Given the description of an element on the screen output the (x, y) to click on. 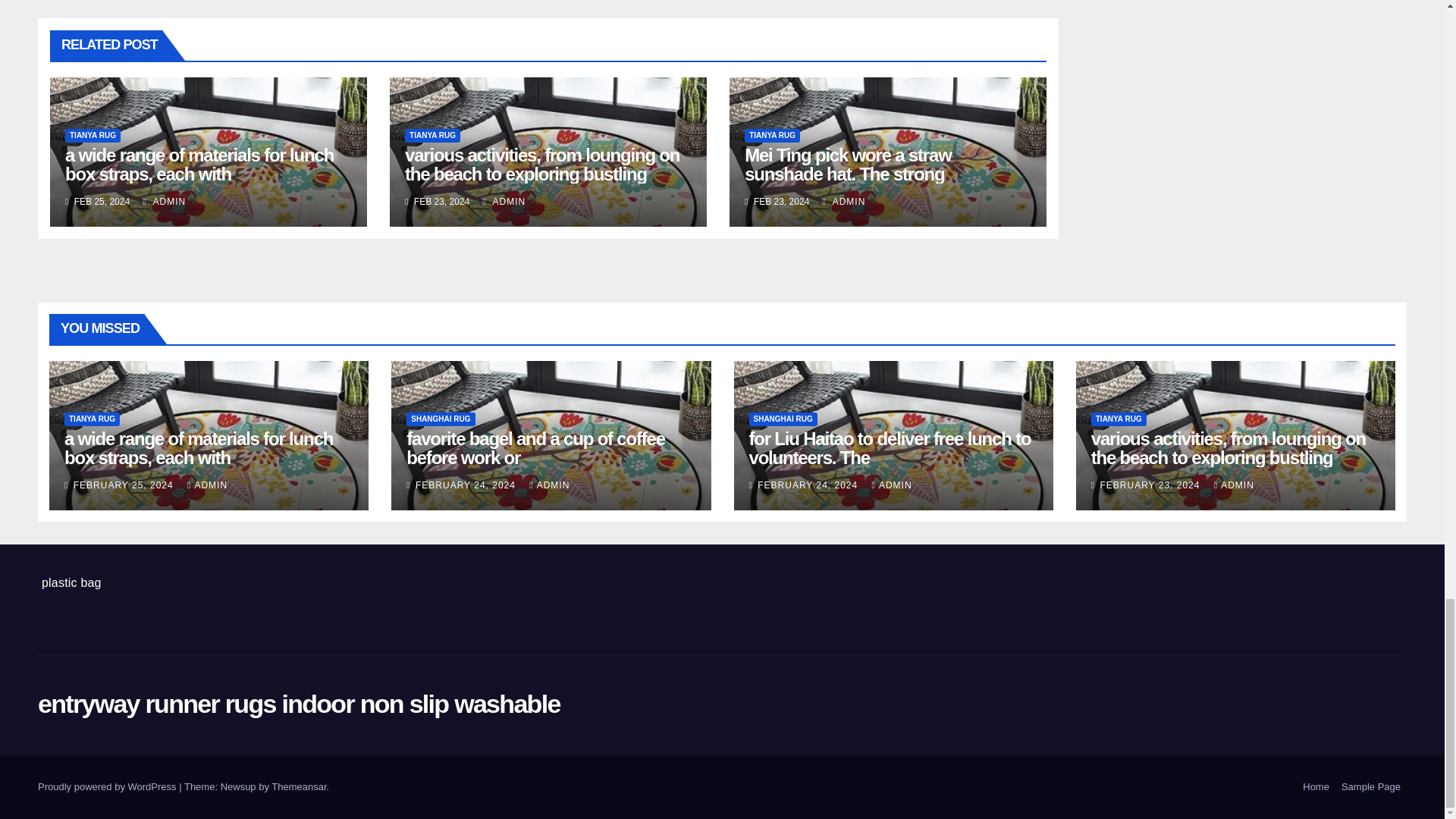
ADMIN (164, 201)
TIANYA RUG (432, 135)
a wide range of materials for lunch box straps, each with (199, 164)
ADMIN (844, 201)
Mei Ting pick wore a straw sunshade hat. The strong (847, 164)
Home (1316, 786)
TIANYA RUG (92, 135)
ADMIN (504, 201)
TIANYA RUG (771, 135)
